Given the description of an element on the screen output the (x, y) to click on. 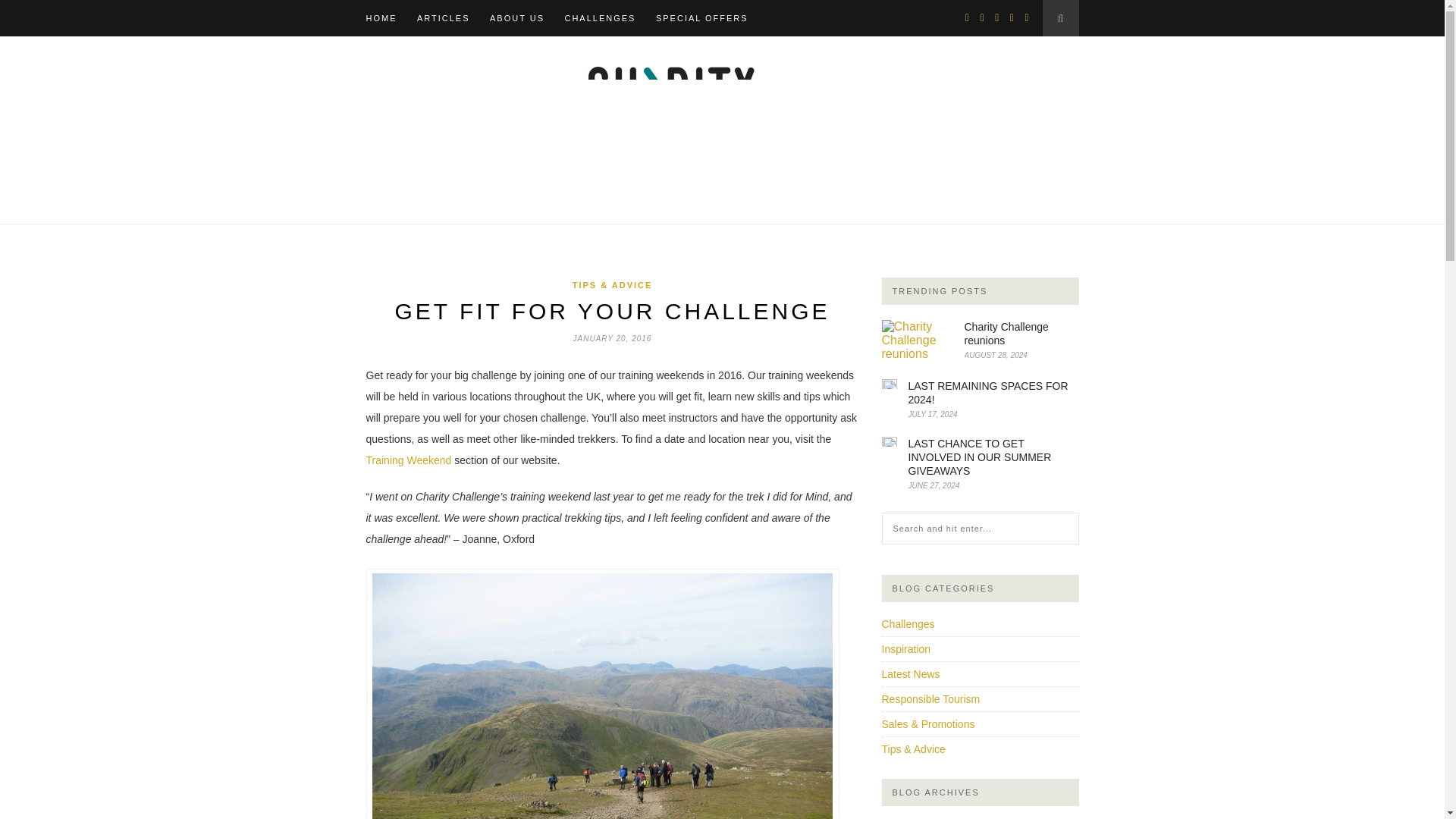
ARTICLES (443, 18)
SPECIAL OFFERS (702, 18)
CHALLENGES (599, 18)
Training Weekend (409, 460)
ABOUT US (516, 18)
